Given the description of an element on the screen output the (x, y) to click on. 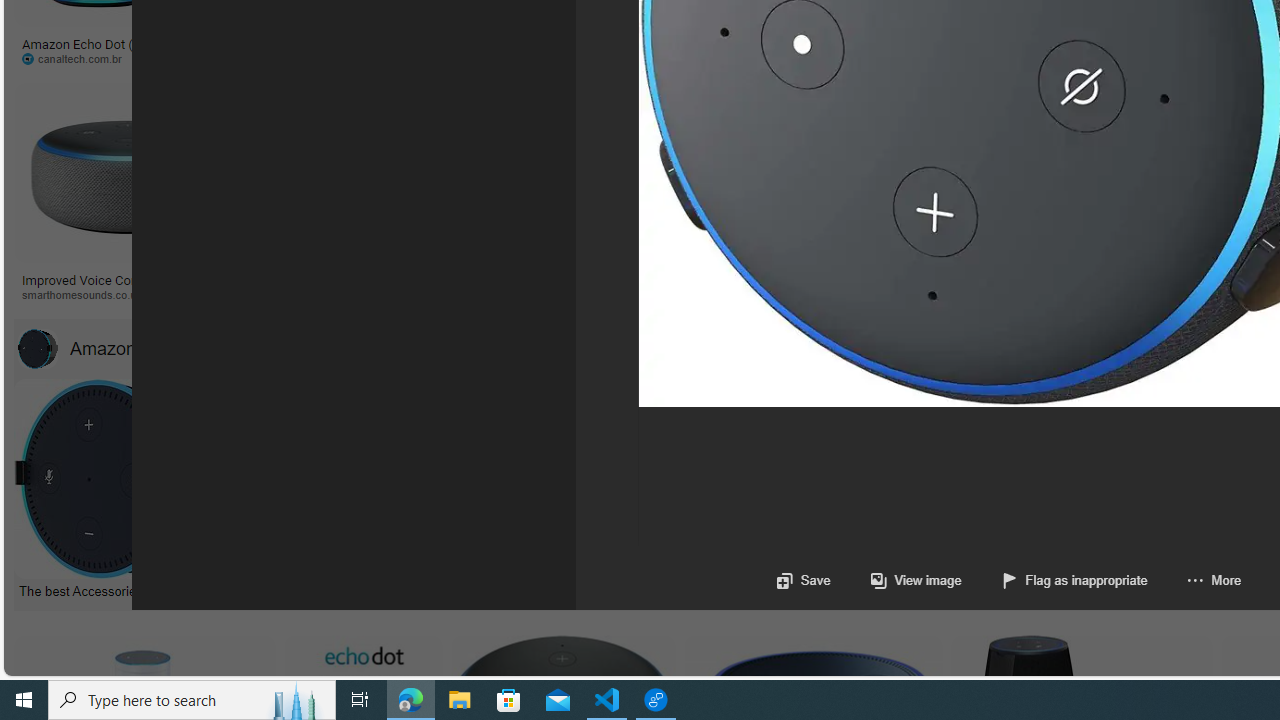
Amazon Echo Dot With Clock Review | Security.org (404, 279)
buynow.com.ec (1117, 58)
smarthomesounds.co.uk (88, 294)
buynow.com.ec (1058, 57)
croma.com (885, 58)
pricehistoryapp.com (506, 58)
Image result for Amazon Echo Dot PNG (944, 172)
Improved Voice Control with Sonos & Alexa Echo devices (128, 286)
Amazon Echo Dot With Clock Review | Security.org (438, 279)
